Given the description of an element on the screen output the (x, y) to click on. 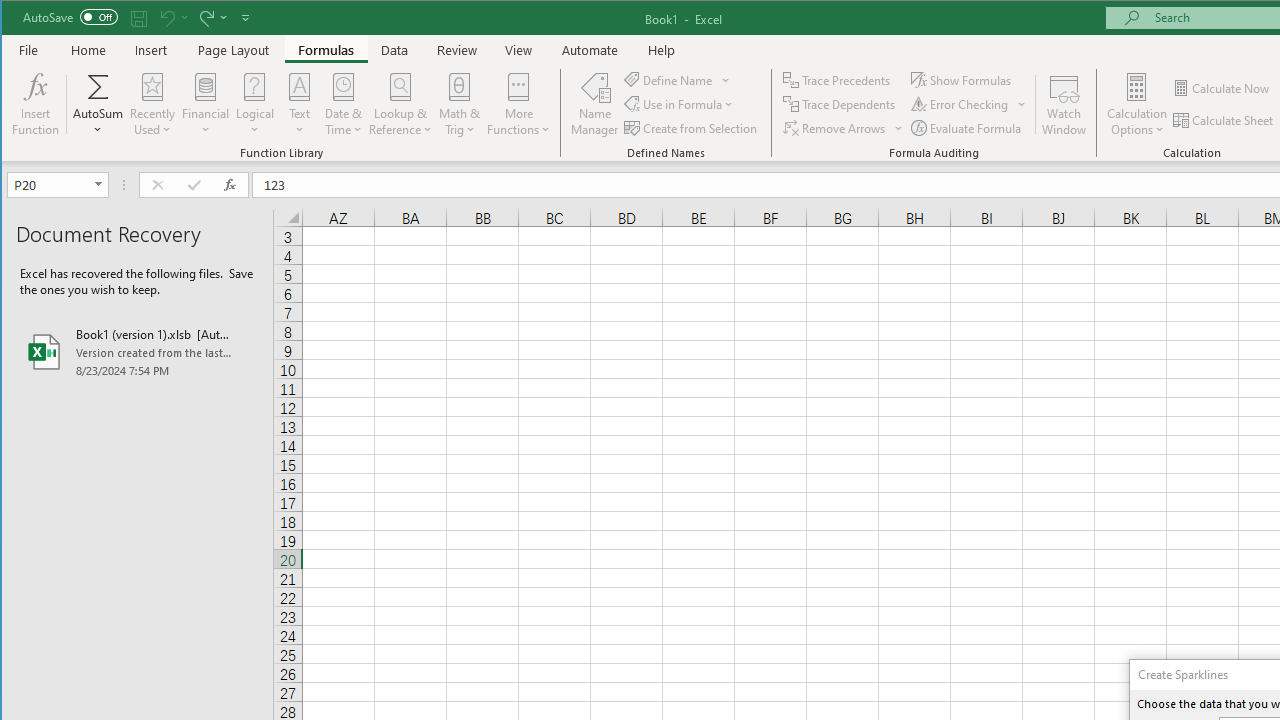
Sum (97, 86)
Trace Dependents (840, 103)
Calculate Sheet (1224, 119)
Error Checking... (961, 103)
